Given the description of an element on the screen output the (x, y) to click on. 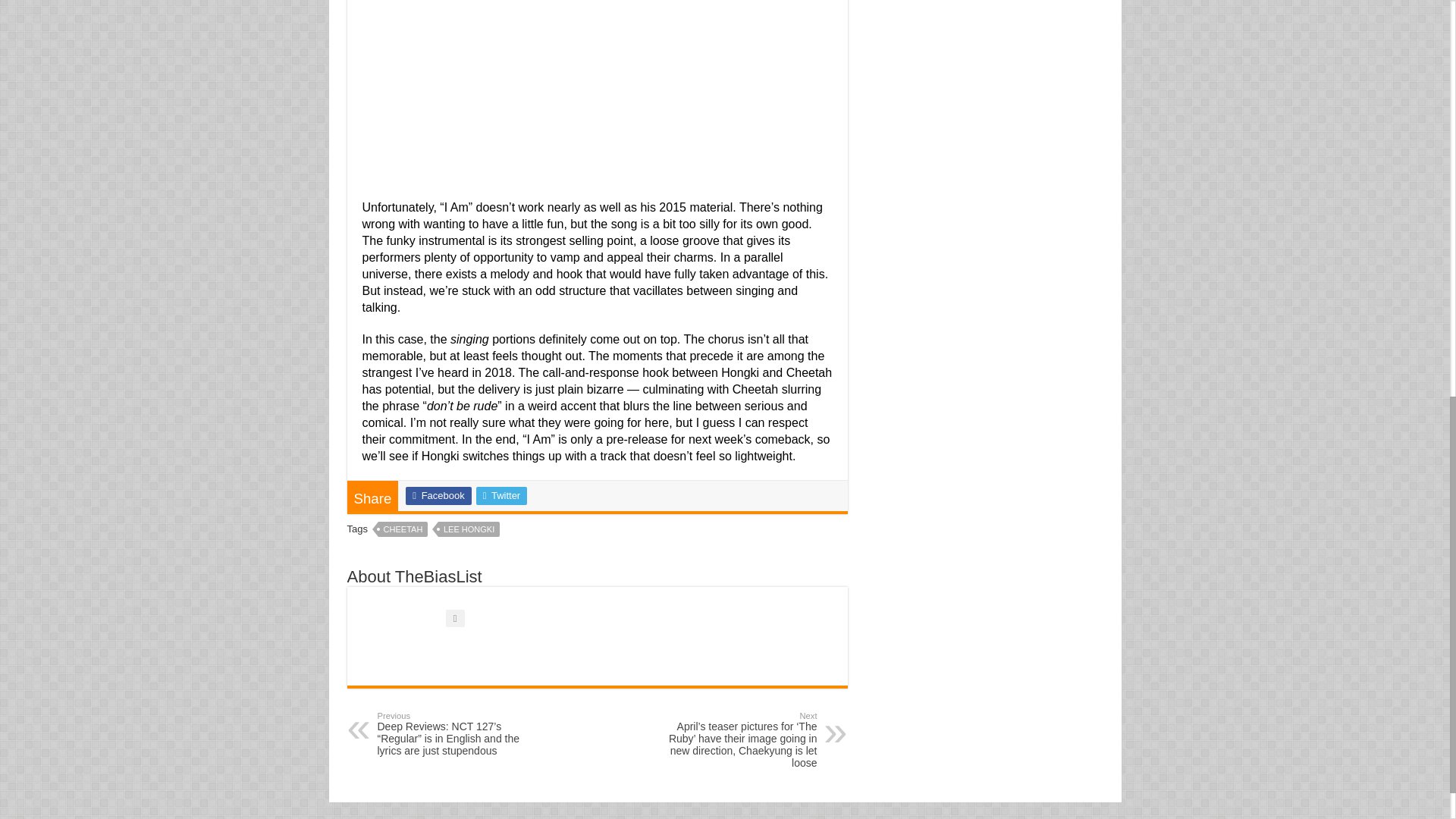
Facebook (438, 495)
Twitter (501, 495)
Scroll To Top (1427, 60)
CHEETAH (403, 529)
